Given the description of an element on the screen output the (x, y) to click on. 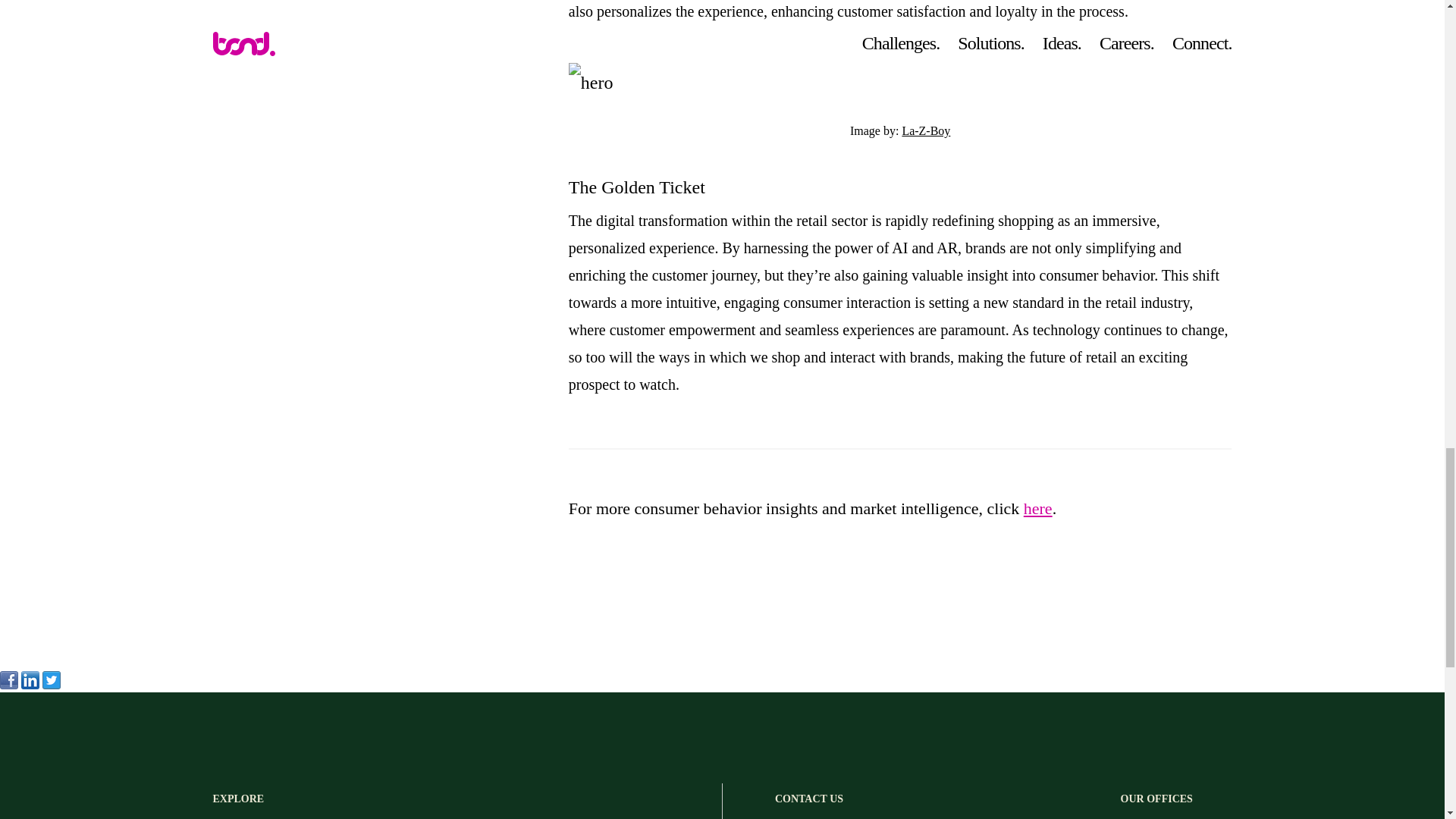
here (1037, 507)
La-Z-Boy (925, 130)
